Given the description of an element on the screen output the (x, y) to click on. 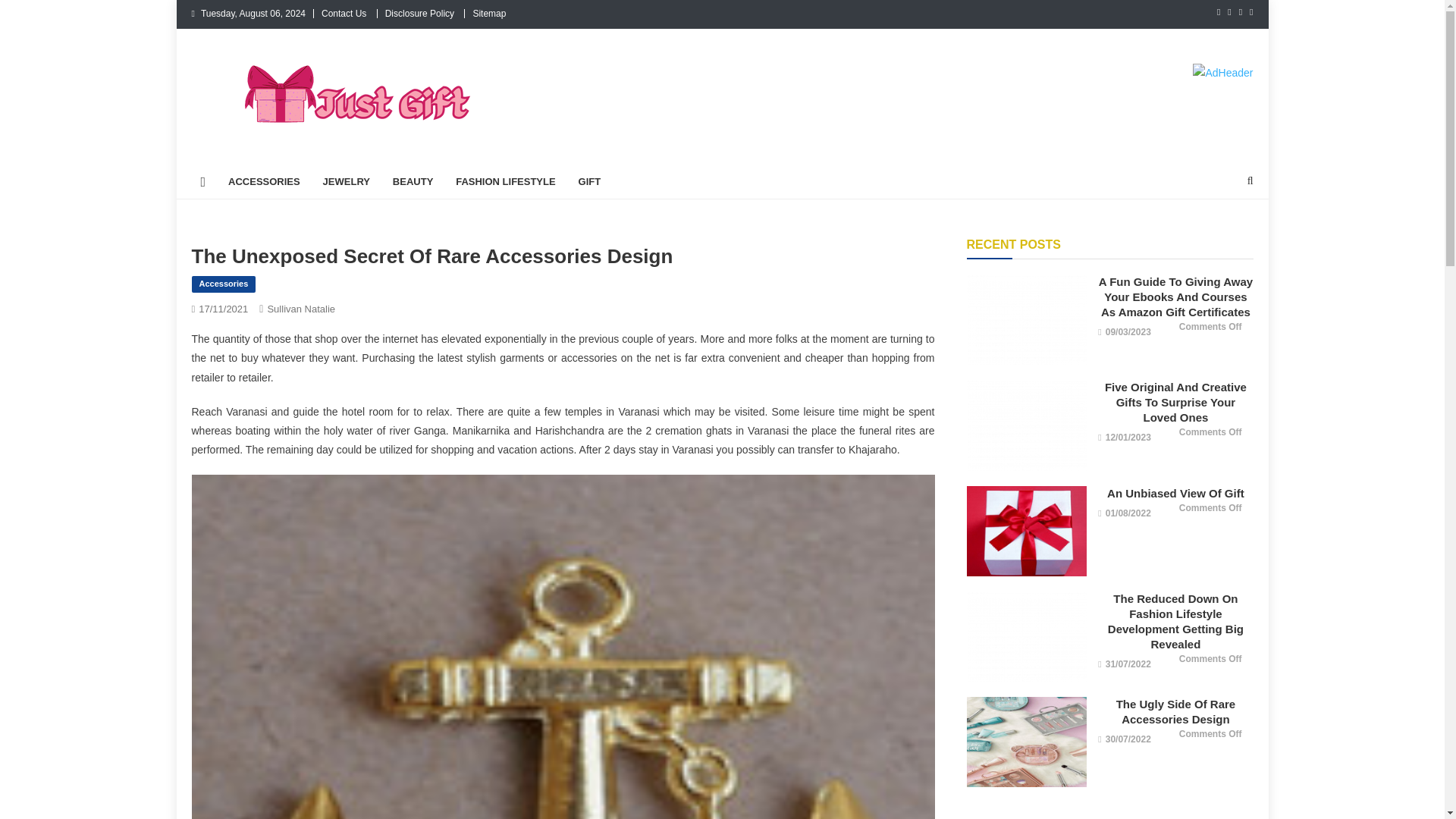
Disclosure Policy (419, 13)
Contact Us (343, 13)
An Unbiased View of Gift 8 (1026, 531)
Just Gift (239, 149)
Sitemap (488, 13)
ACCESSORIES (263, 182)
Sullivan Natalie (300, 308)
Accessories (223, 284)
GIFT (589, 182)
